Given the description of an element on the screen output the (x, y) to click on. 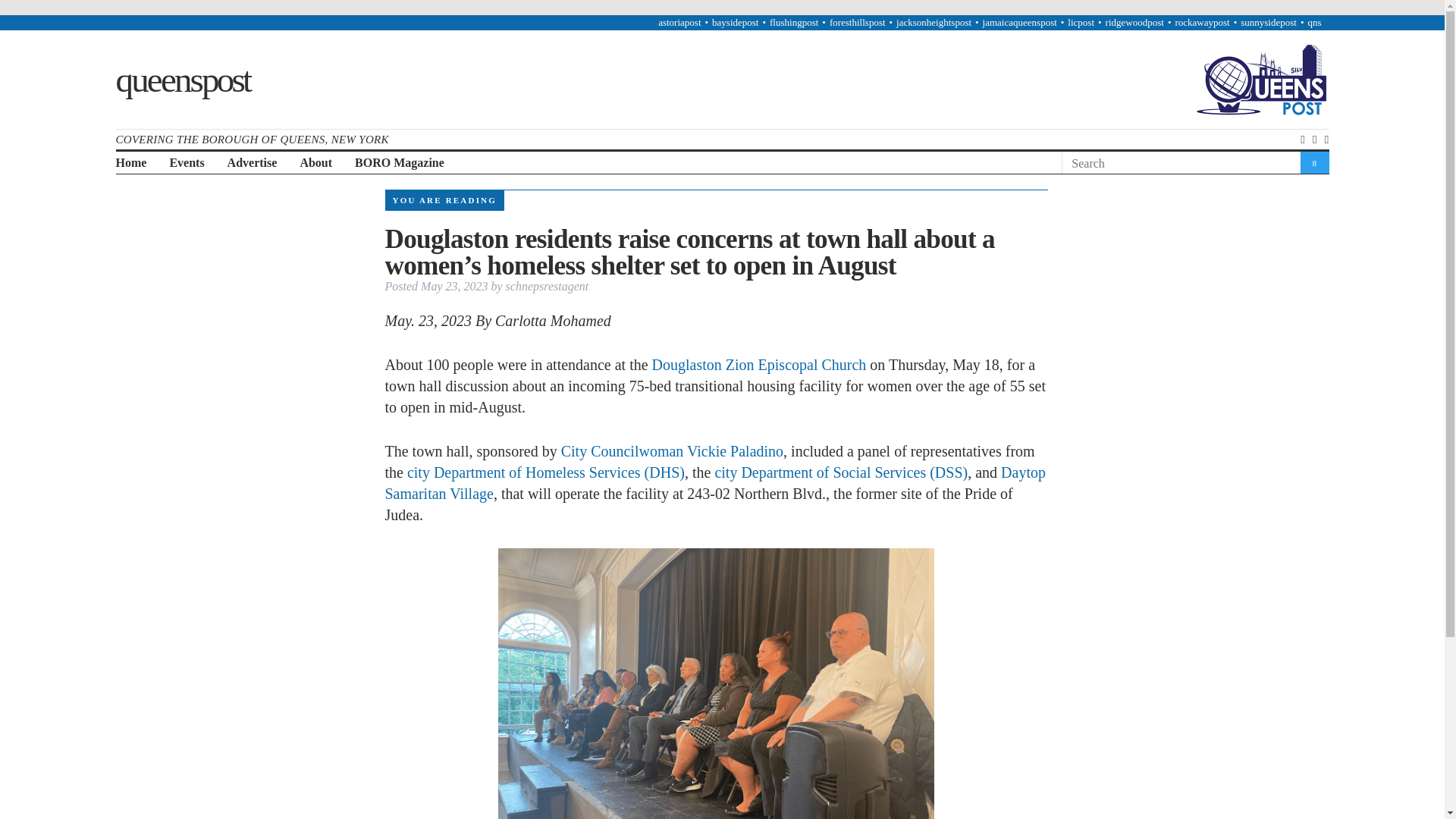
Advertise (252, 163)
jacksonheightspost (933, 21)
licpost (1080, 21)
baysidepost (734, 21)
flushingpost (794, 21)
ridgewoodpost (1134, 21)
Douglaston Zion Episcopal Church (759, 364)
foresthillspost (857, 21)
astoriapost (679, 21)
About (315, 163)
